Given the description of an element on the screen output the (x, y) to click on. 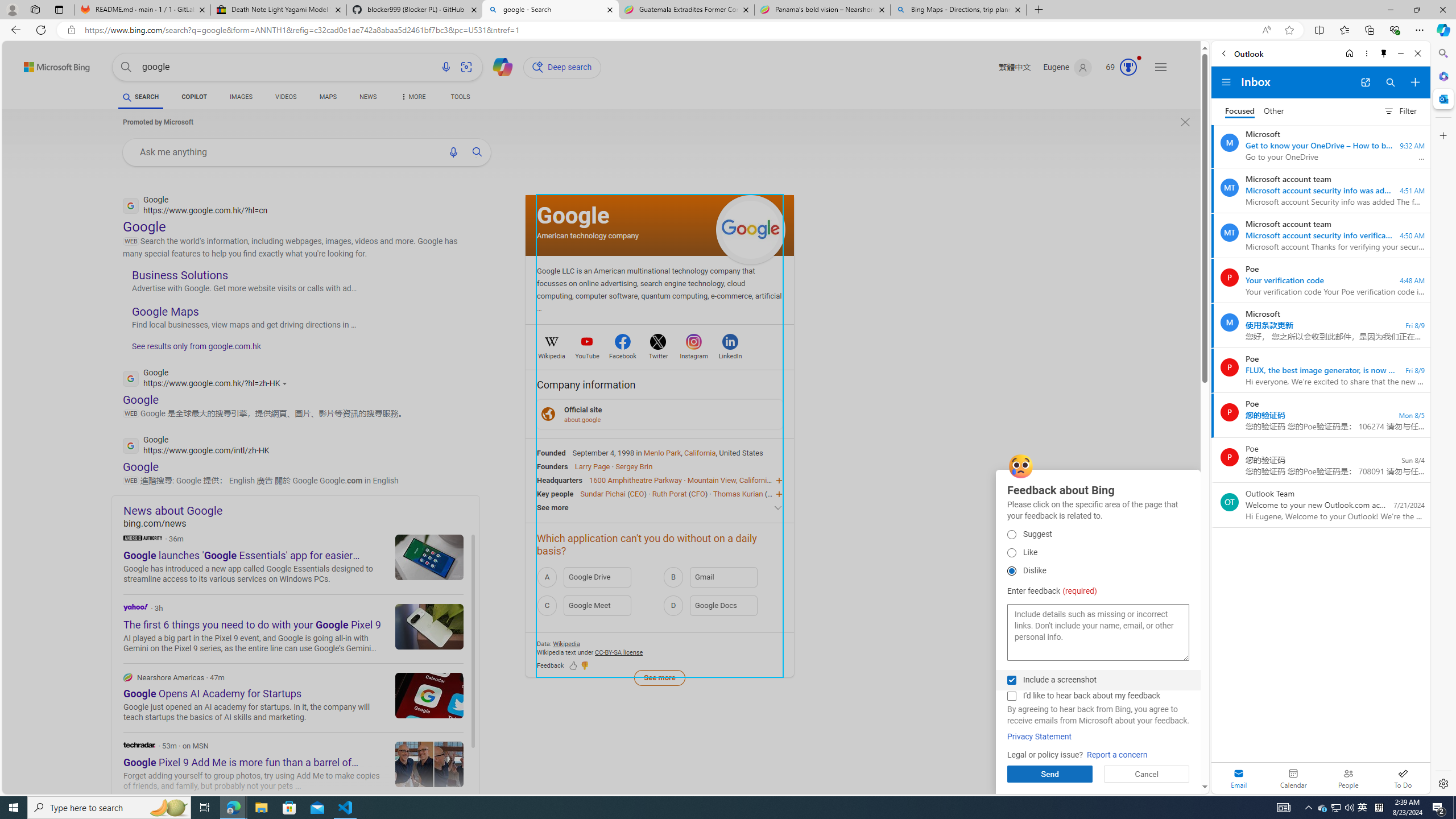
Report a concern (1116, 755)
Open in new tab (1365, 82)
Focused (1239, 110)
Include a screenshot (1011, 679)
